Given the description of an element on the screen output the (x, y) to click on. 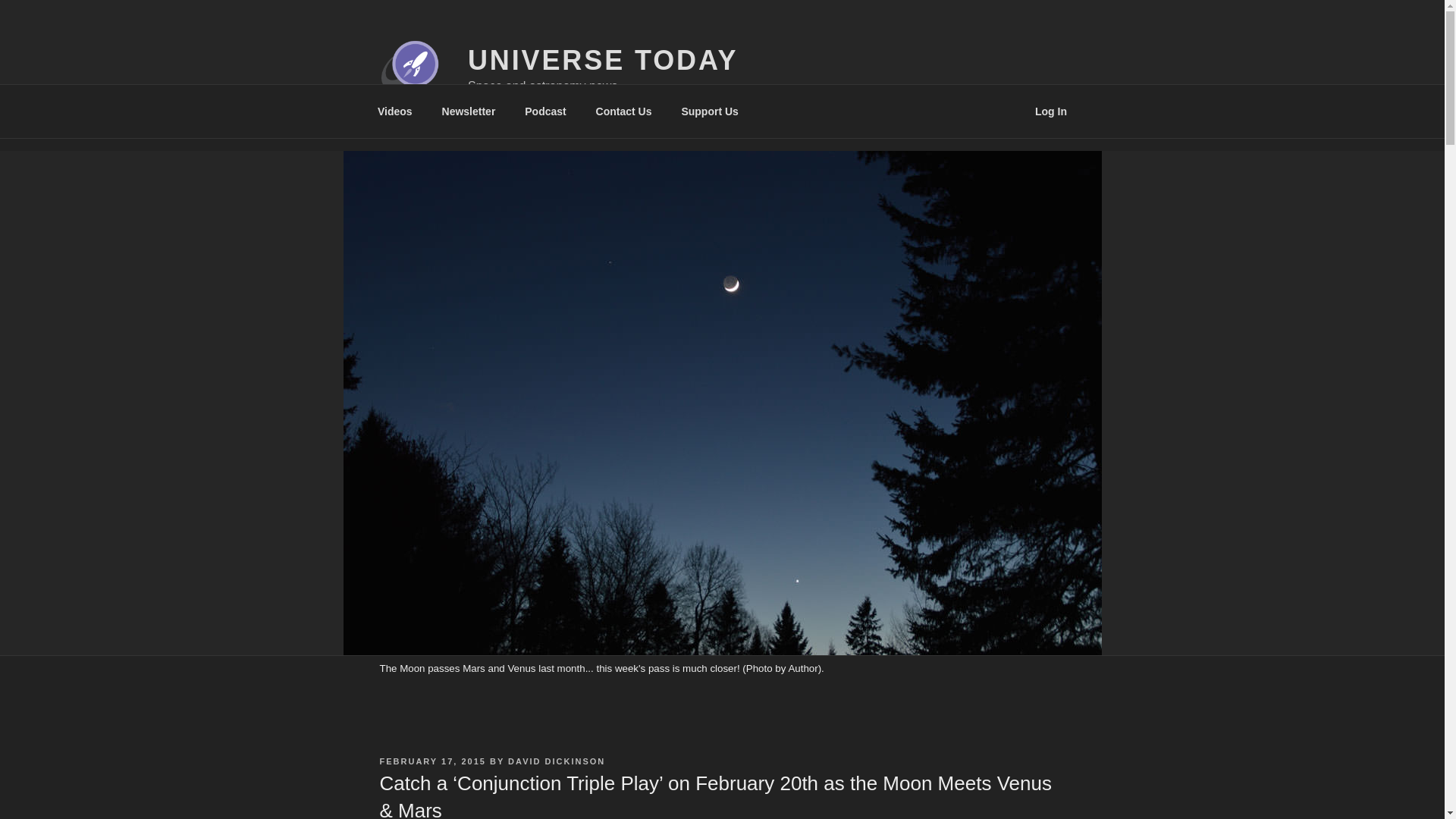
UNIVERSE TODAY (602, 60)
FEBRUARY 17, 2015 (431, 760)
Videos (394, 110)
Contact Us (623, 110)
Podcast (545, 110)
Log In (1051, 110)
Support Us (709, 110)
DAVID DICKINSON (556, 760)
Newsletter (468, 110)
